Given the description of an element on the screen output the (x, y) to click on. 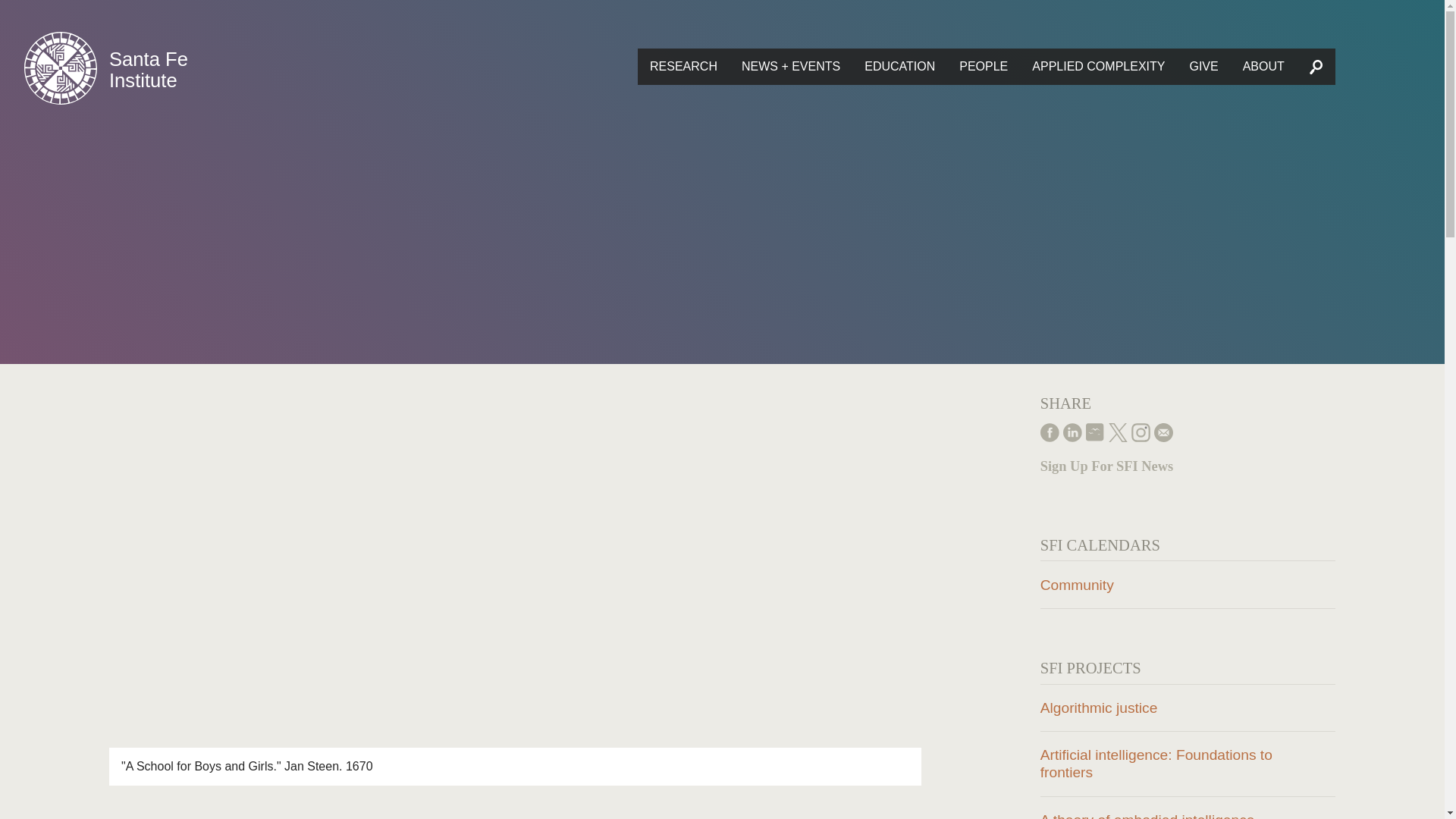
Algorithmic justice (1188, 707)
PEOPLE (983, 66)
APPLIED COMPLEXITY (1098, 66)
EDUCATION (899, 66)
Artificial intelligence: Foundations to frontiers (1188, 763)
A theory of embodied intelligence (1188, 807)
RESEARCH (683, 66)
Community (1188, 584)
